Given the description of an element on the screen output the (x, y) to click on. 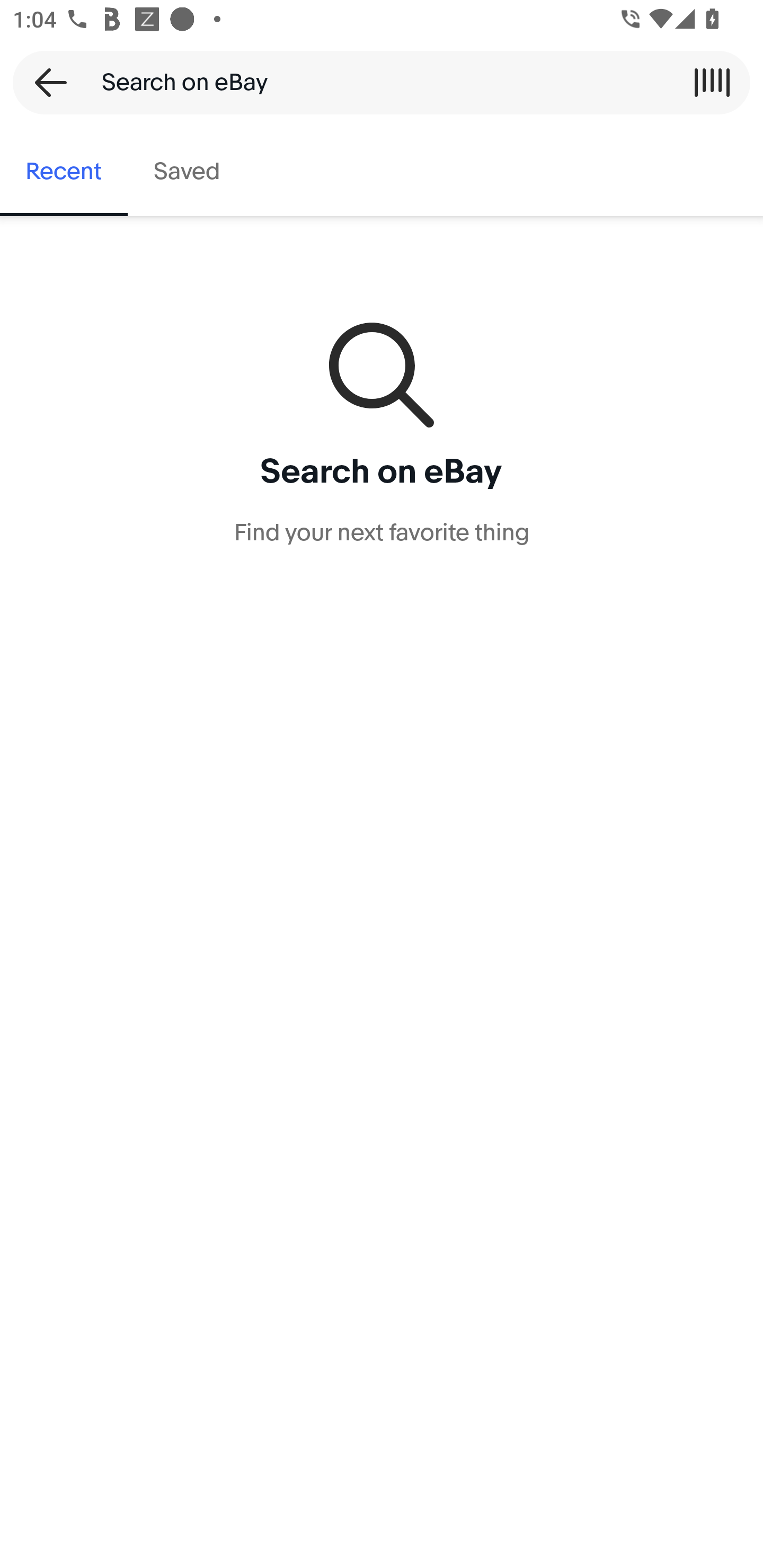
Back (44, 82)
Scan a barcode (711, 82)
Search on eBay (375, 82)
Saved, tab 2 of 2 Saved (186, 171)
